Given the description of an element on the screen output the (x, y) to click on. 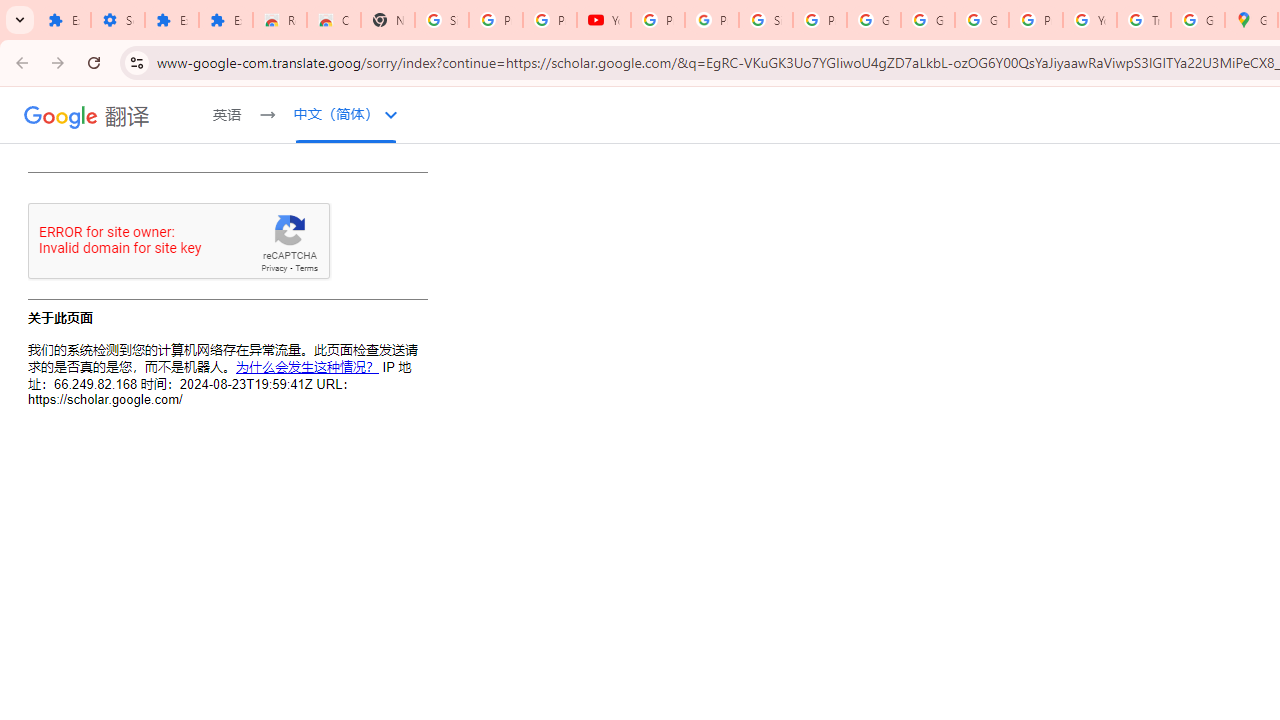
Sign in - Google Accounts (765, 20)
Google Account (927, 20)
YouTube (1089, 20)
Extensions (225, 20)
